Given the description of an element on the screen output the (x, y) to click on. 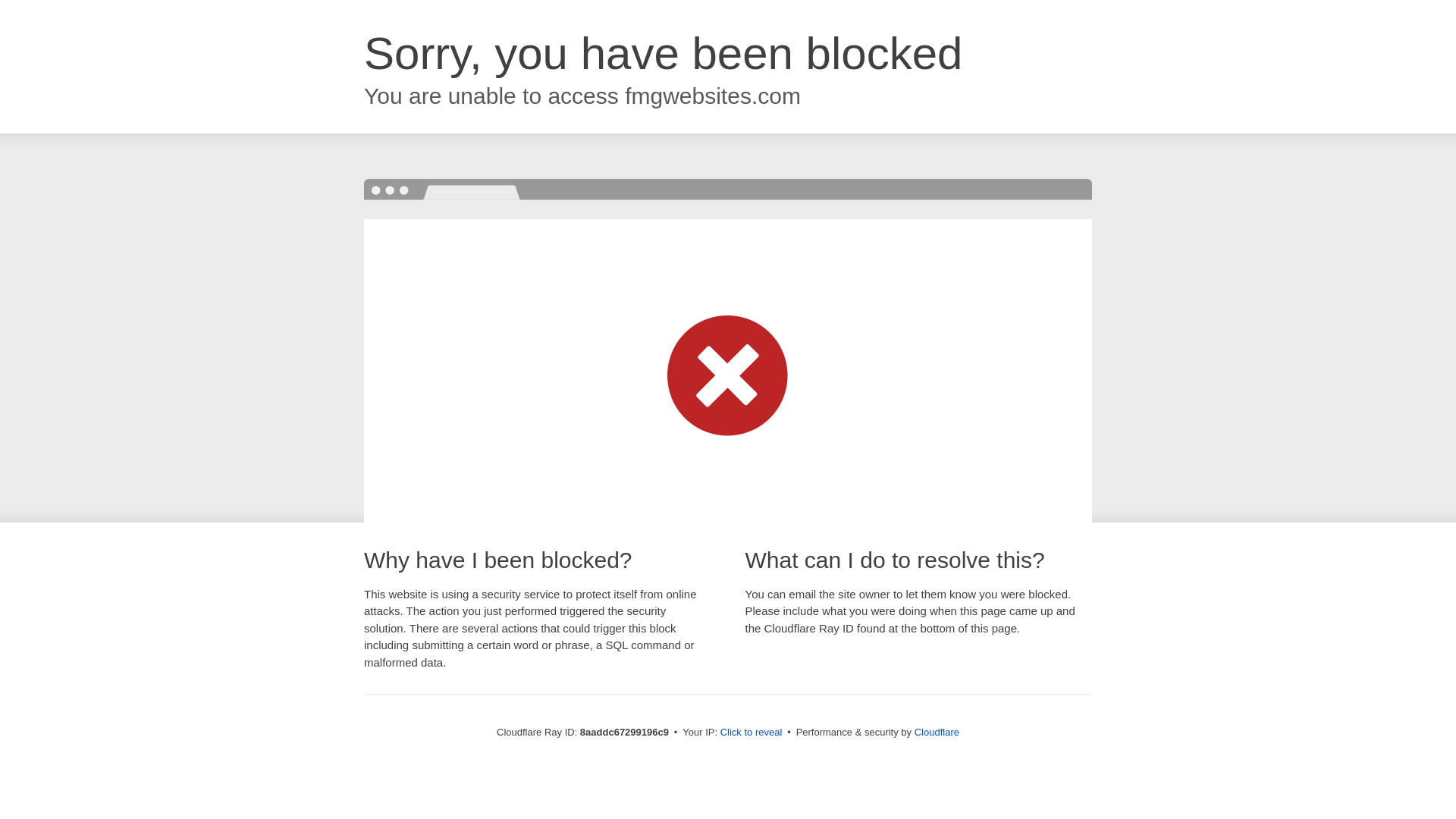
Cloudflare (936, 731)
Click to reveal (751, 732)
